Given the description of an element on the screen output the (x, y) to click on. 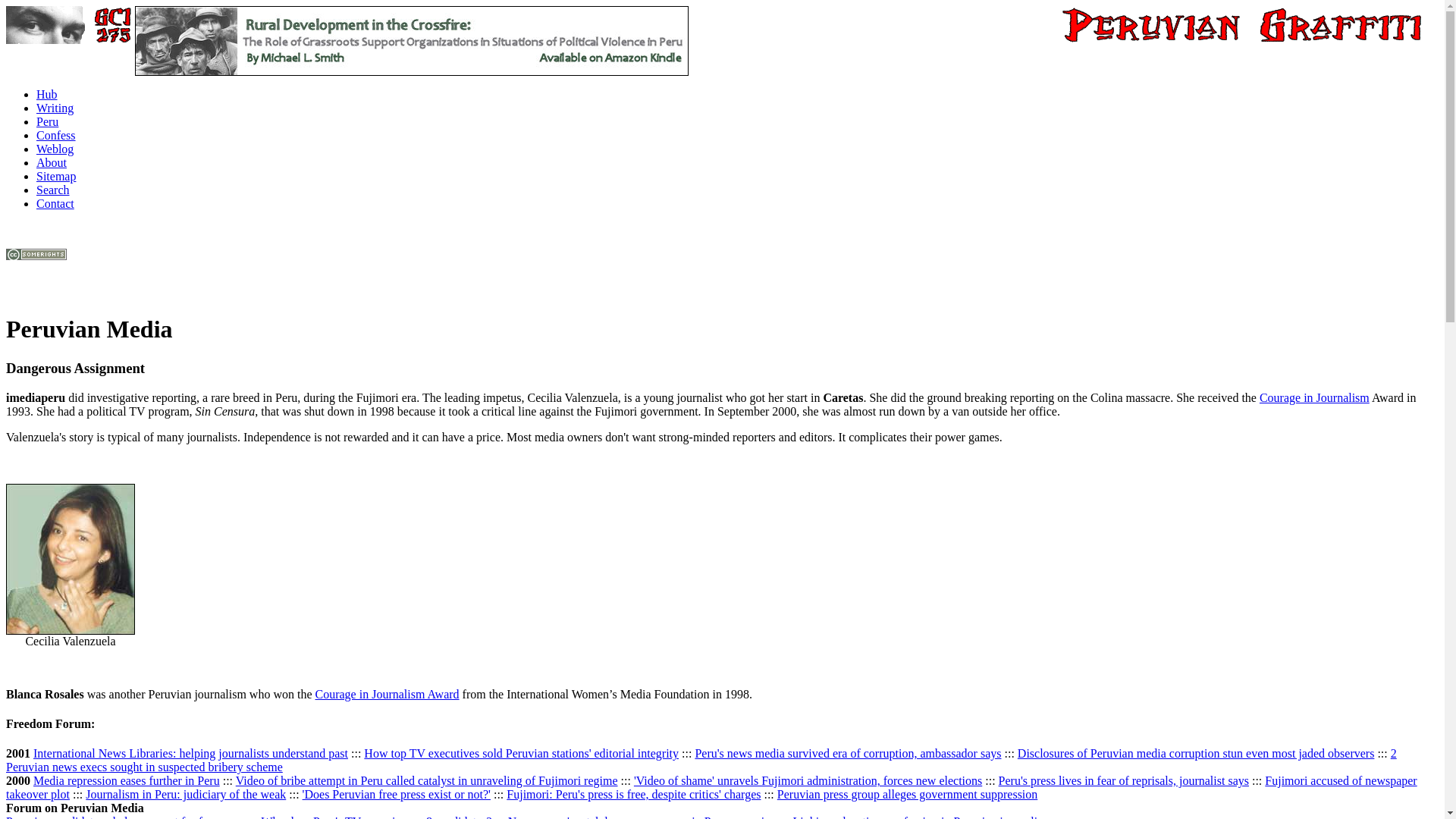
Peru's press lives in fear of reprisals, journalist says (1123, 780)
Journalism in Peru: judiciary of the weak (185, 793)
11.20.00 (426, 780)
12.07.00 (126, 780)
Peruvian press group alleges government suppression (906, 793)
Sitemap (55, 175)
03.14.00 (710, 786)
03.09.00 (185, 793)
Why does Peru's TV news ignore 8 candidates? (376, 816)
01.22.01 (700, 759)
05.31.00 (1123, 780)
Send a message to Michael Smith (55, 203)
2 Peruvian news execs sought in suspected bribery scheme (700, 759)
